Given the description of an element on the screen output the (x, y) to click on. 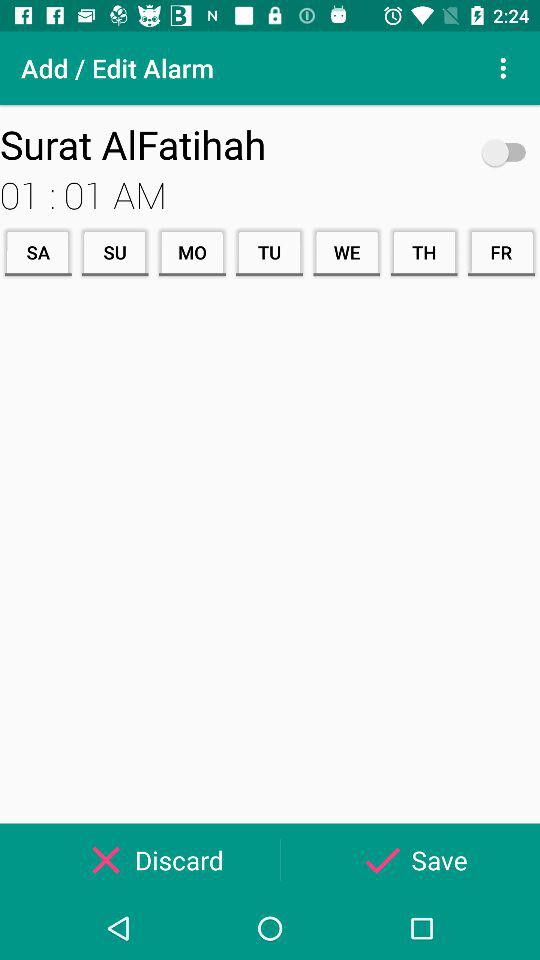
jump until su (114, 251)
